Given the description of an element on the screen output the (x, y) to click on. 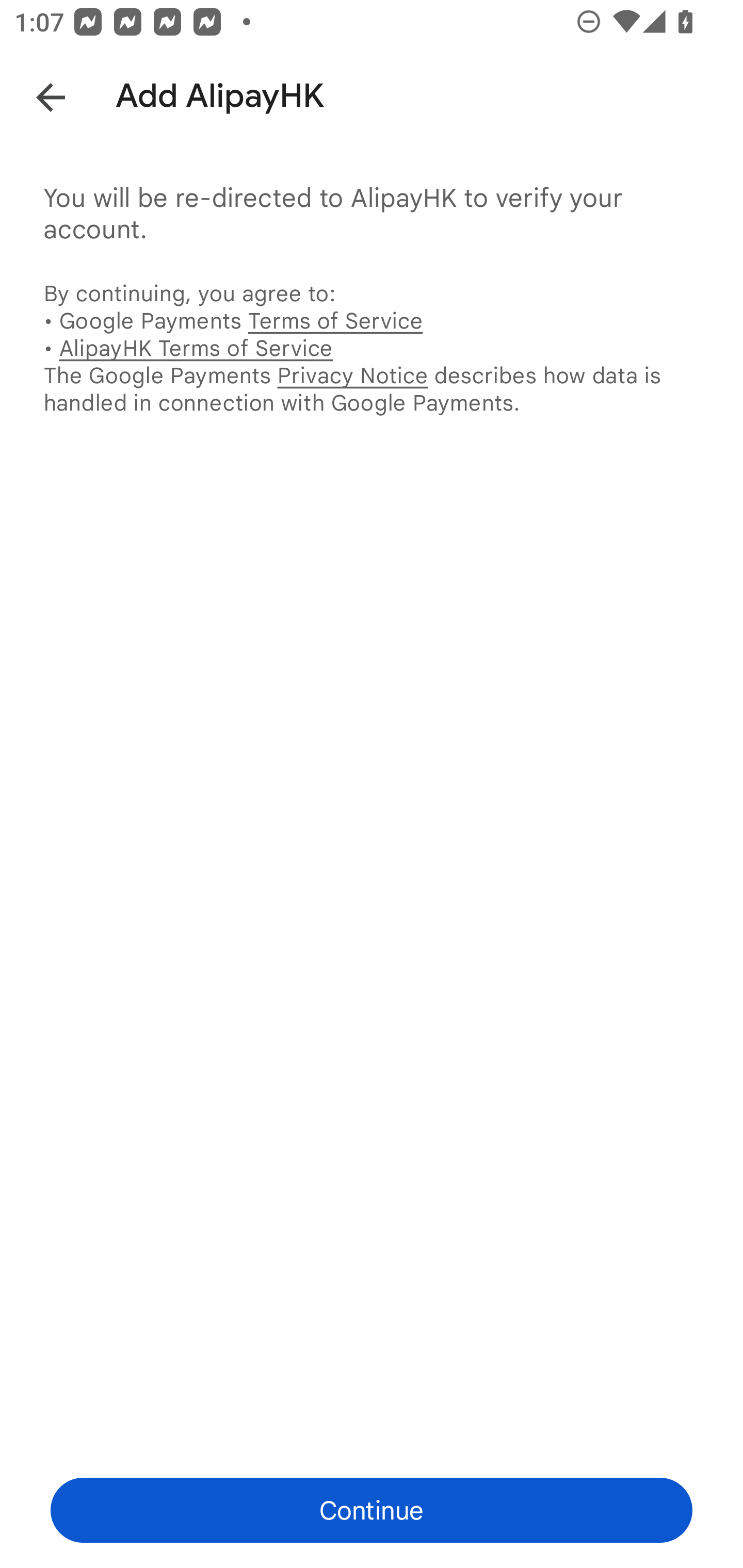
Back (36, 94)
Terms of Service (334, 320)
AlipayHK Terms of Service (195, 347)
Privacy Notice (352, 375)
Continue (371, 1510)
